Given the description of an element on the screen output the (x, y) to click on. 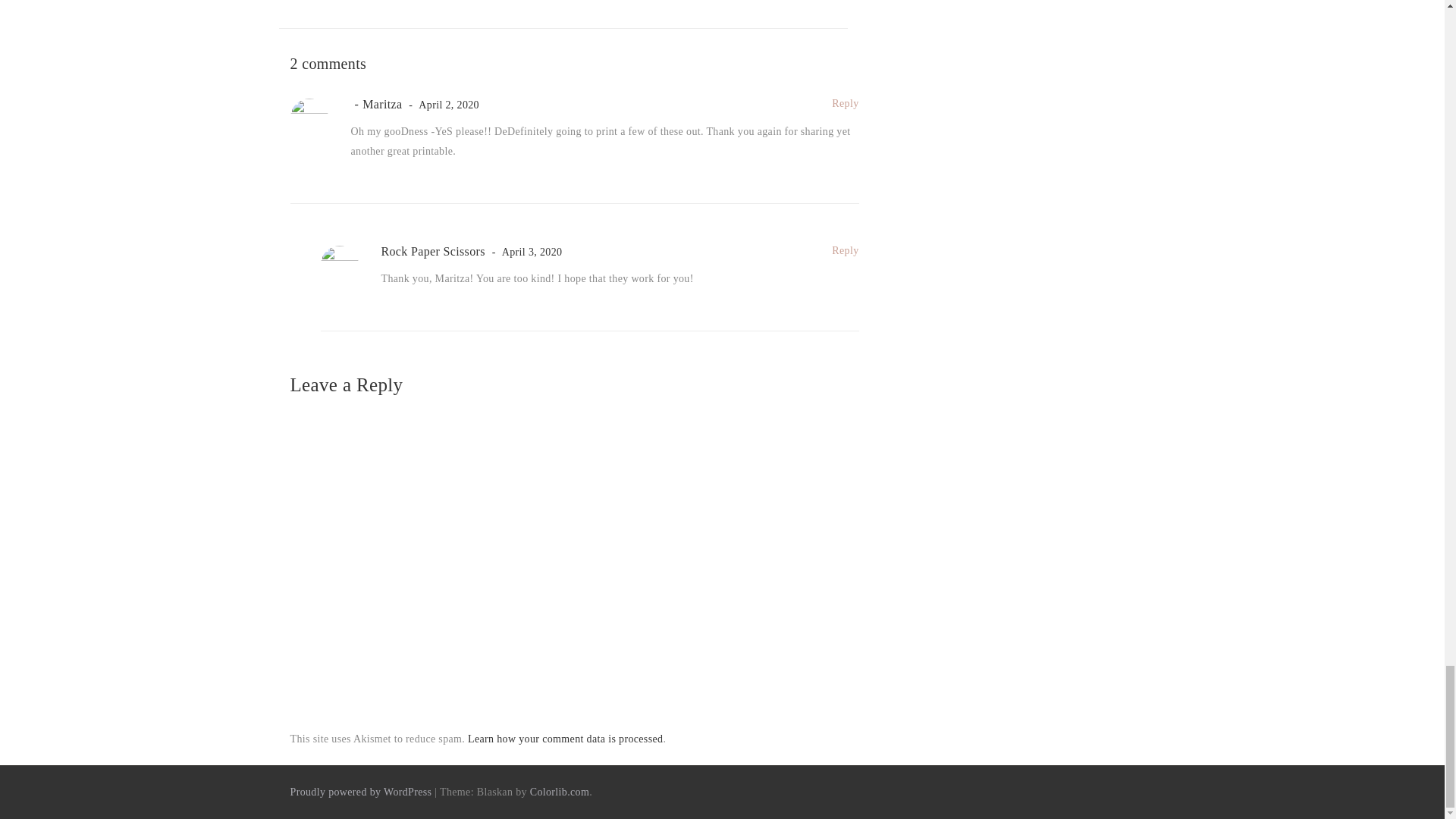
Reply (845, 250)
April 2, 2020 (441, 104)
April 3, 2020 (524, 251)
Reply (845, 102)
Learn how your comment data is processed (564, 738)
Maritza (375, 103)
